Given the description of an element on the screen output the (x, y) to click on. 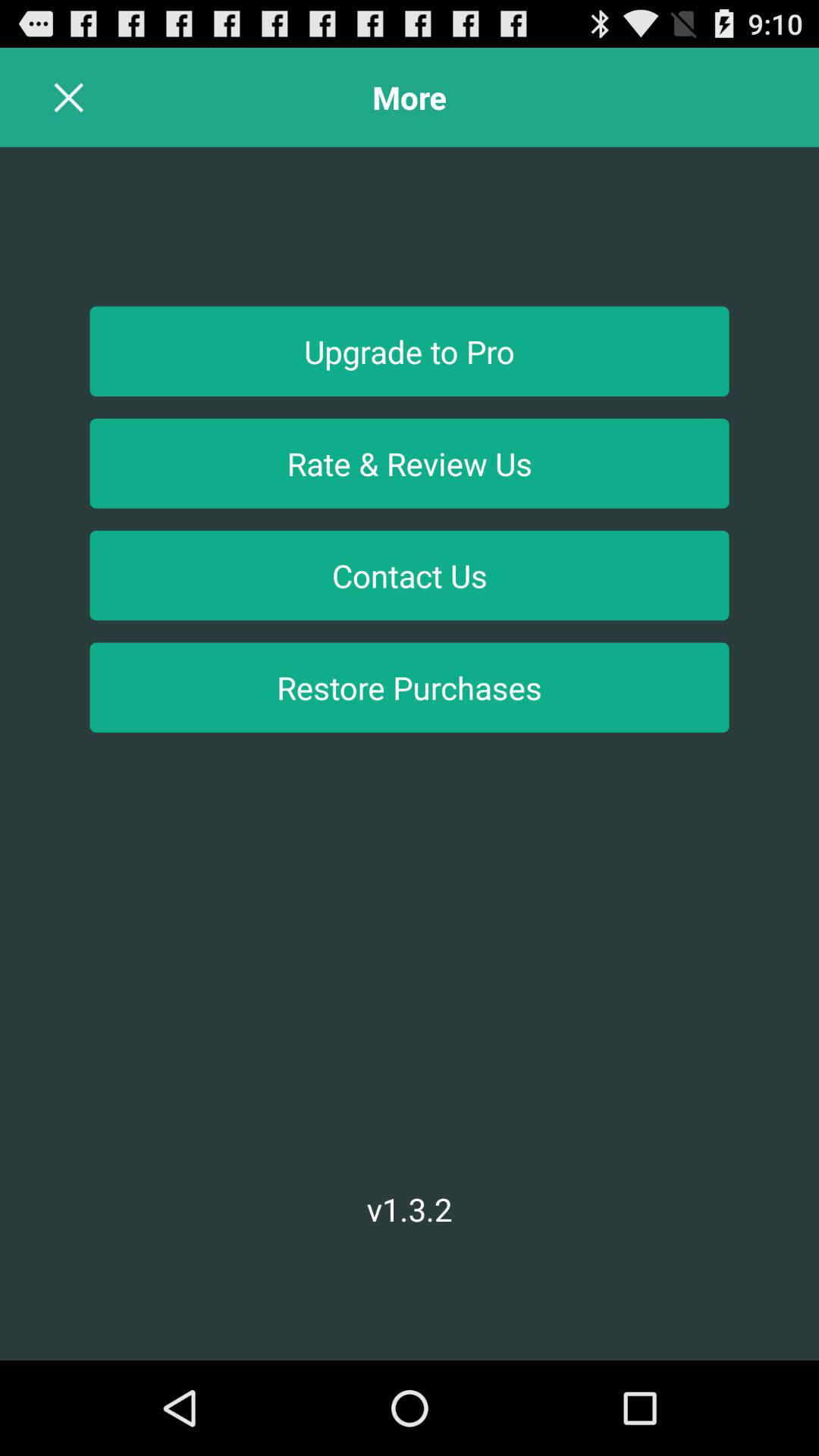
close window (69, 97)
